Given the description of an element on the screen output the (x, y) to click on. 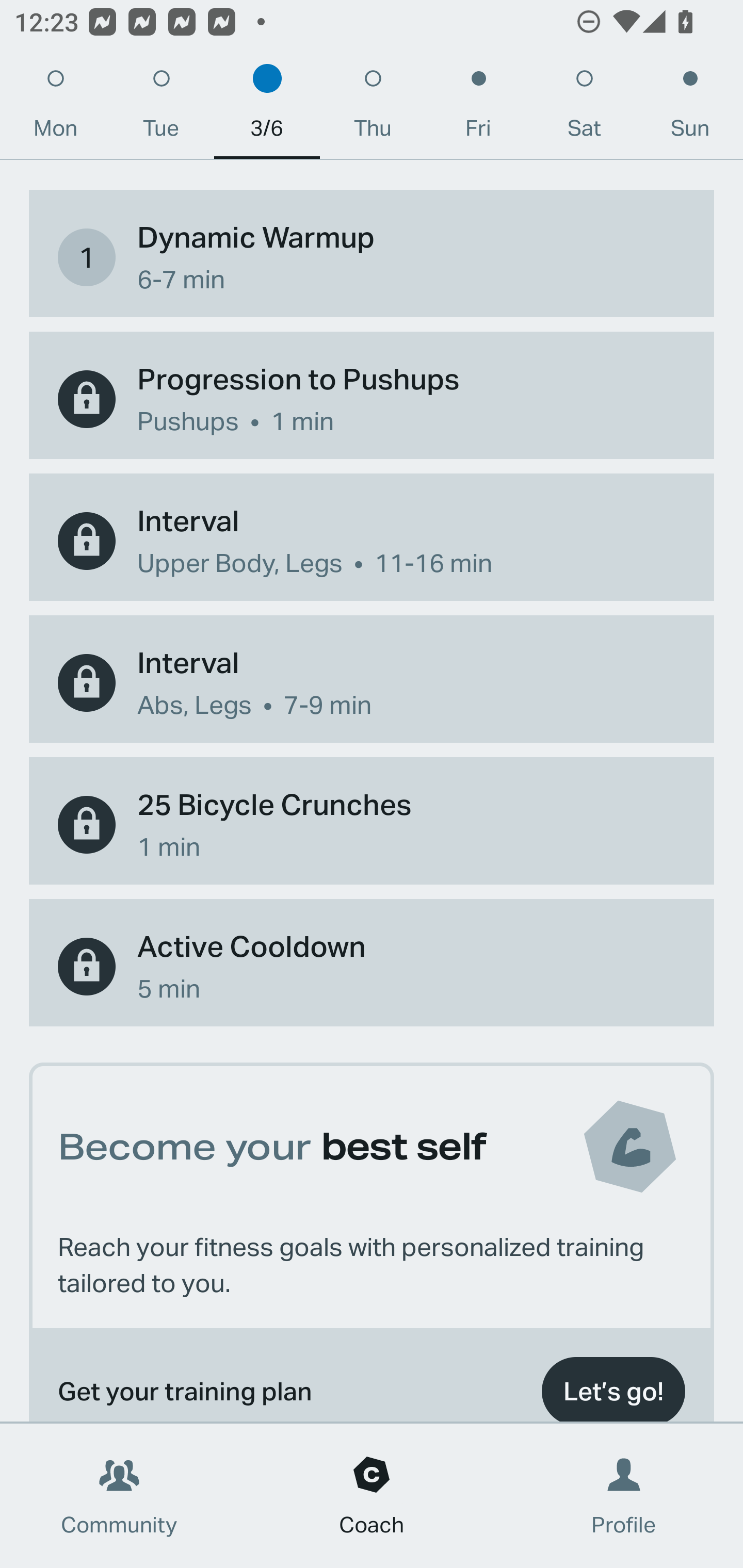
Mon (55, 108)
Tue (160, 108)
3/6 (266, 108)
Thu (372, 108)
Fri (478, 108)
Sat (584, 108)
Sun (690, 108)
1 Dynamic Warmup 6-7 min (371, 257)
Progression to Pushups Pushups  •  1 min (371, 398)
Interval Upper Body, Legs  •  11-16 min (371, 540)
Interval Abs, Legs  •  7-9 min (371, 682)
25 Bicycle Crunches 1 min (371, 824)
Active Cooldown 5 min (371, 966)
Let’s go! (613, 1385)
Community (119, 1495)
Profile (624, 1495)
